Given the description of an element on the screen output the (x, y) to click on. 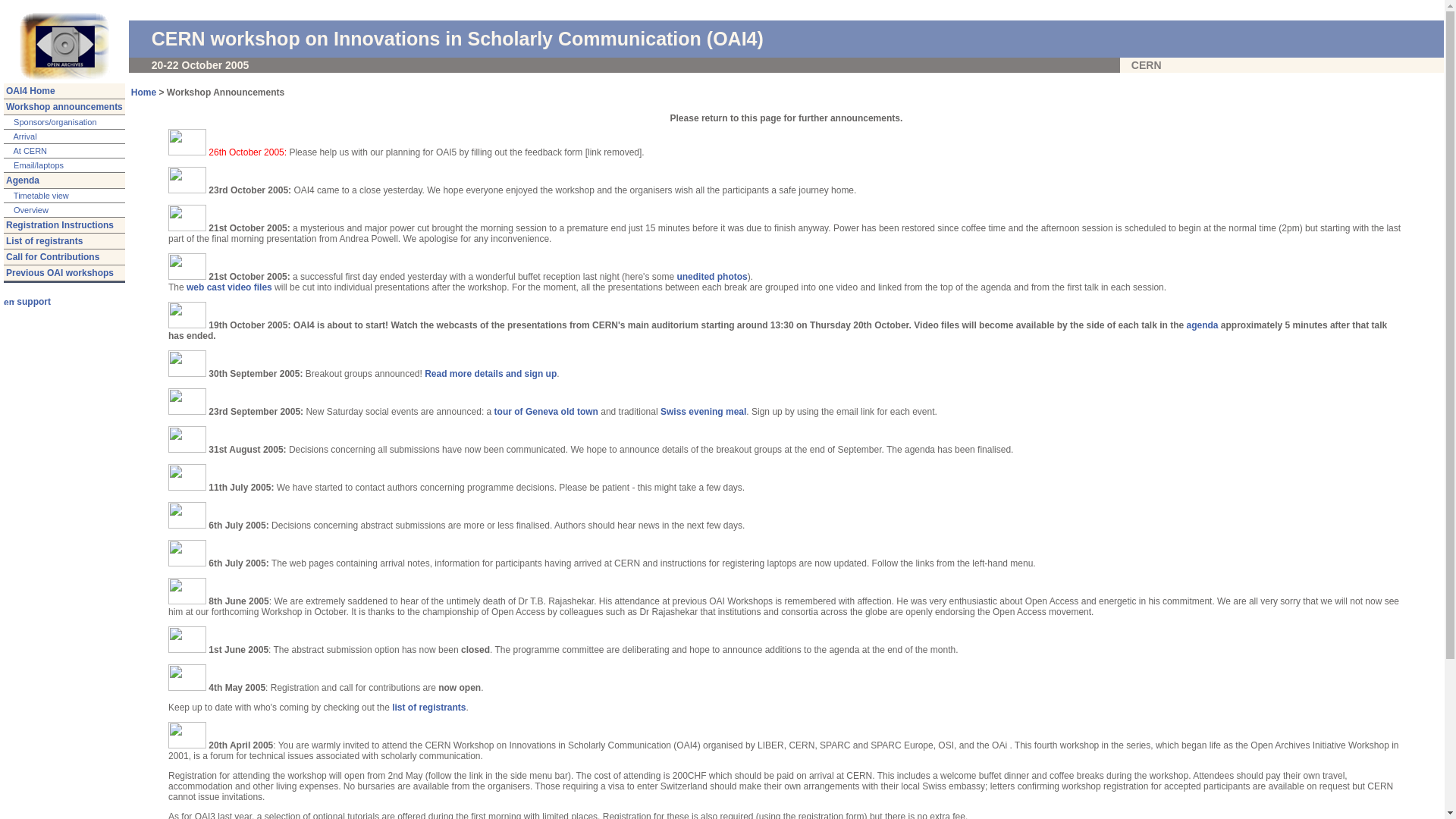
Workshop announcements Element type: text (64, 106)
Registration Instructions Element type: text (59, 224)
List of registrants Element type: text (44, 240)
unedited photos Element type: text (711, 276)
OAI4 Home Element type: text (30, 90)
agenda Element type: text (1201, 325)
support Element type: text (26, 301)
 At CERN Element type: text (29, 150)
Home Element type: text (143, 92)
 Arrival Element type: text (24, 136)
 Overview Element type: text (29, 209)
Swiss evening meal Element type: text (703, 411)
Read more details and sign up Element type: text (490, 373)
tour of Geneva old town Element type: text (546, 411)
Call for Contributions Element type: text (52, 256)
Previous OAI workshops Element type: text (59, 272)
 Timetable view Element type: text (40, 195)
list of registrants Element type: text (427, 707)
 Email/laptops Element type: text (37, 164)
 Sponsors/organisation Element type: text (54, 121)
Agenda Element type: text (22, 180)
web cast video files Element type: text (229, 287)
